Given the description of an element on the screen output the (x, y) to click on. 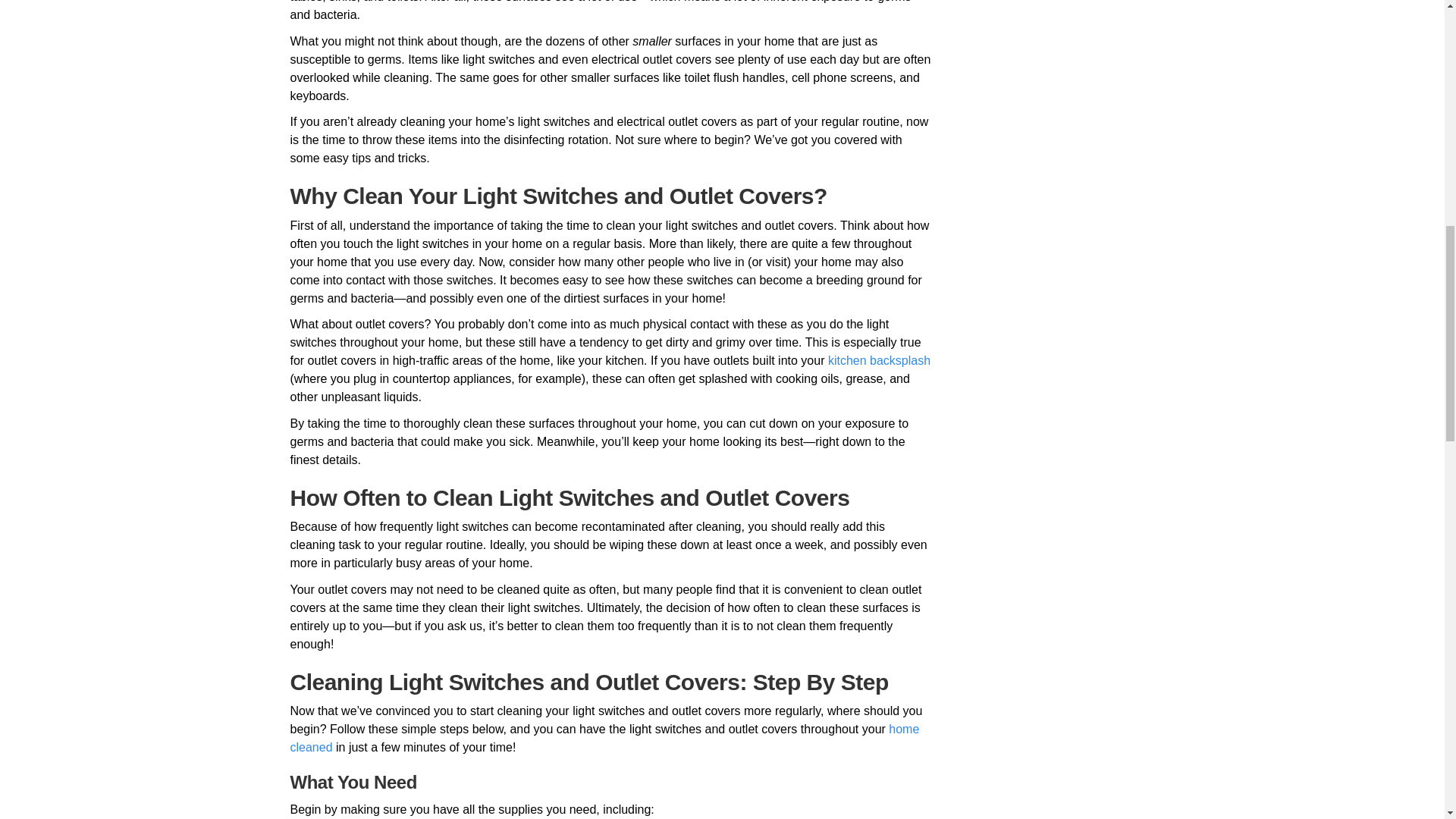
kitchen backsplash (879, 359)
home cleaned (603, 737)
